Given the description of an element on the screen output the (x, y) to click on. 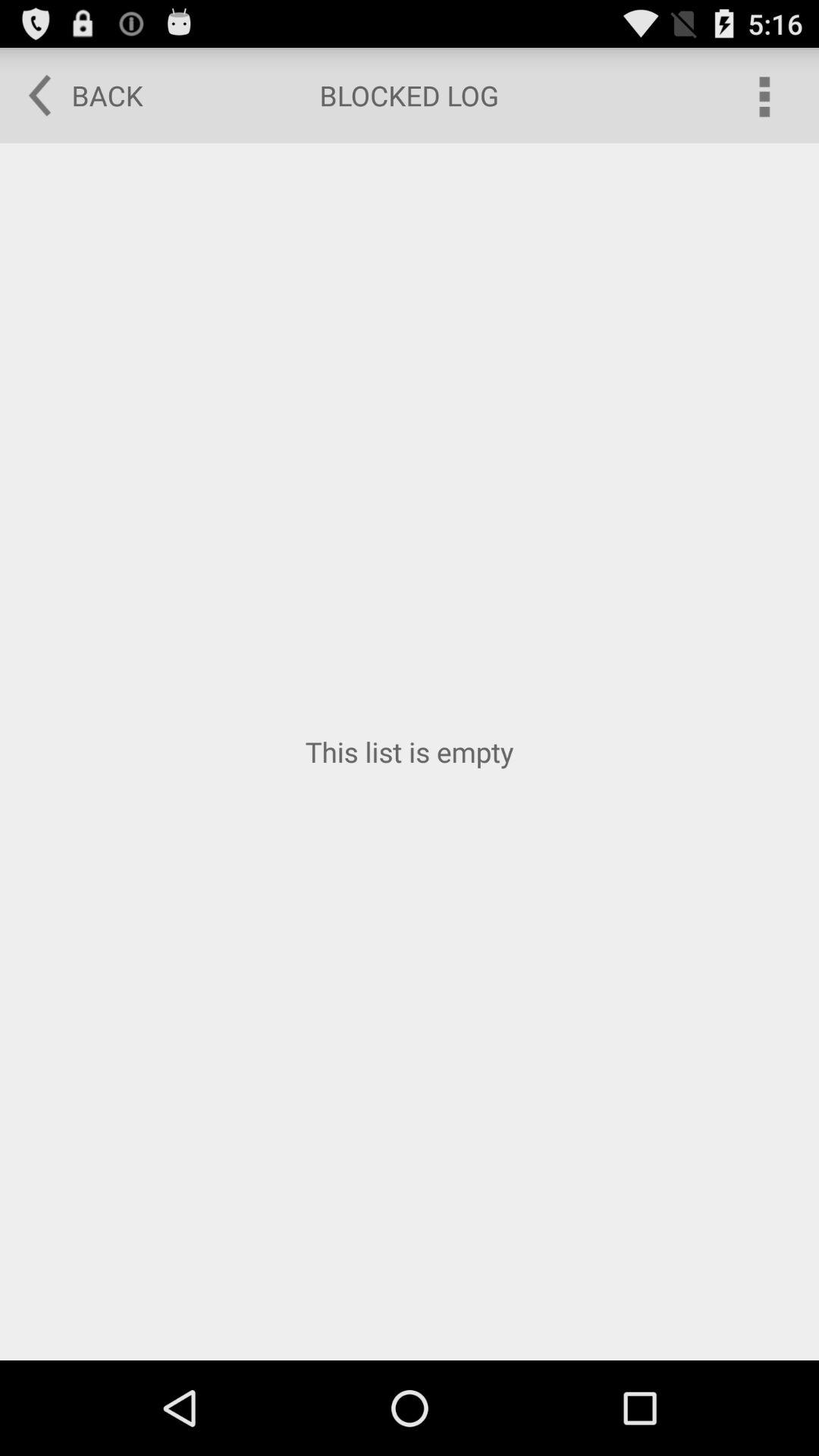
swipe until back button (75, 95)
